Given the description of an element on the screen output the (x, y) to click on. 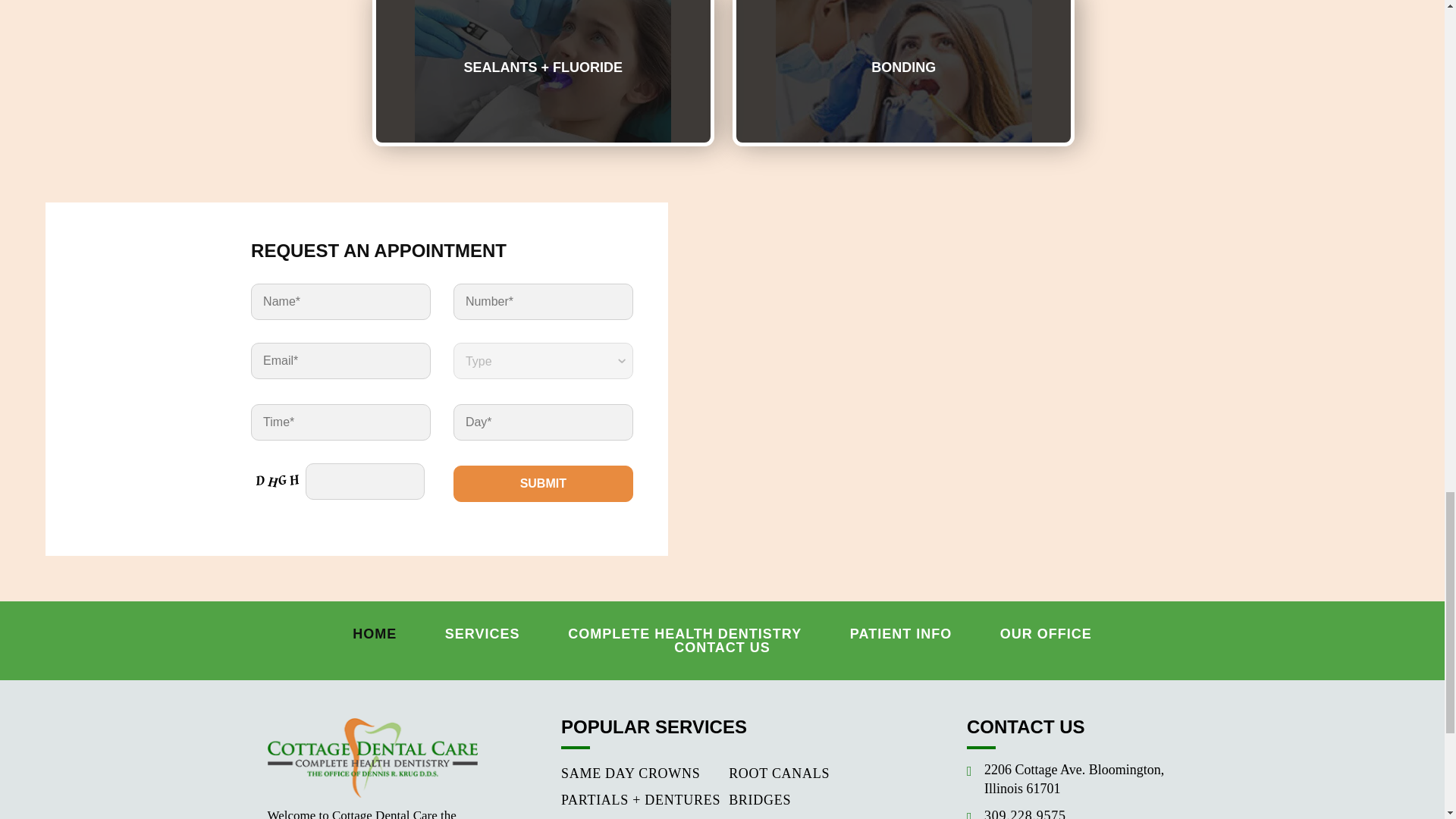
submit (542, 484)
